Given the description of an element on the screen output the (x, y) to click on. 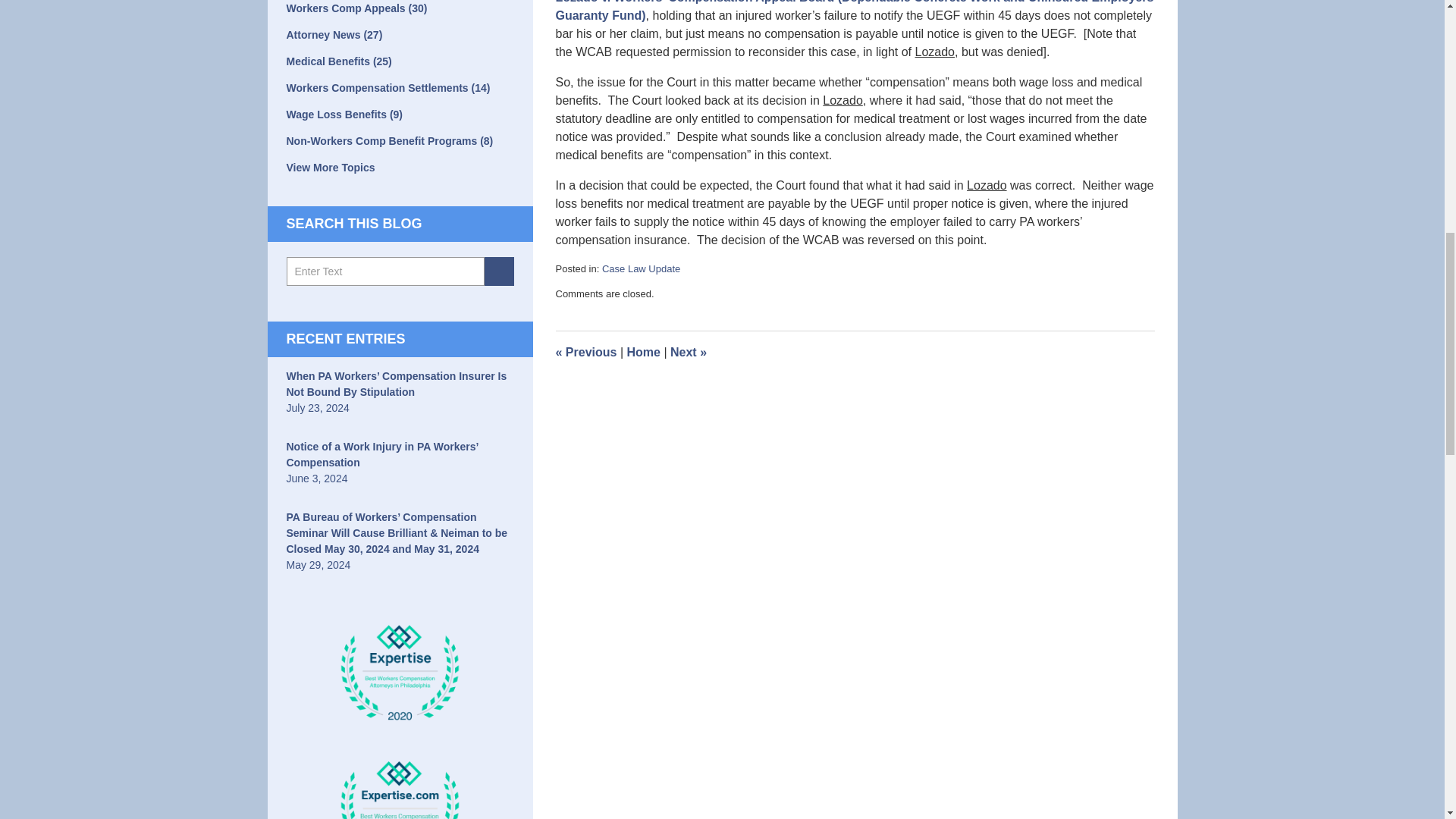
Case Law Update (640, 268)
View all posts in Case Law Update (640, 268)
Home (642, 351)
